Given the description of an element on the screen output the (x, y) to click on. 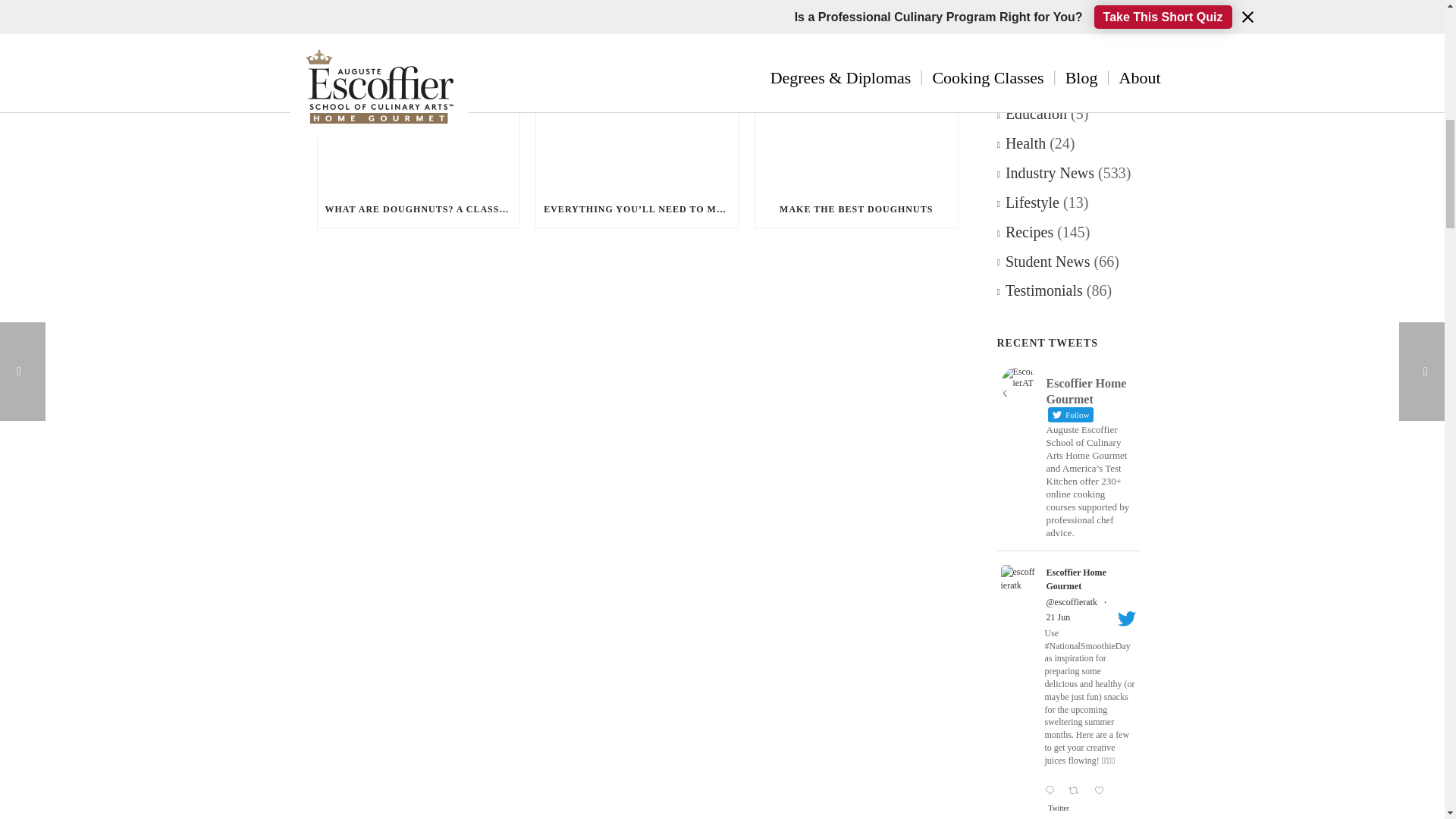
Donuts (340, 3)
Make the Best Doughnuts (856, 123)
MAKE THE BEST DOUGHNUTS (856, 208)
What Are Doughnuts? A Classic American Pastry (418, 123)
WHAT ARE DOUGHNUTS? A CLASSIC AMERICAN PASTRY (418, 208)
